Given the description of an element on the screen output the (x, y) to click on. 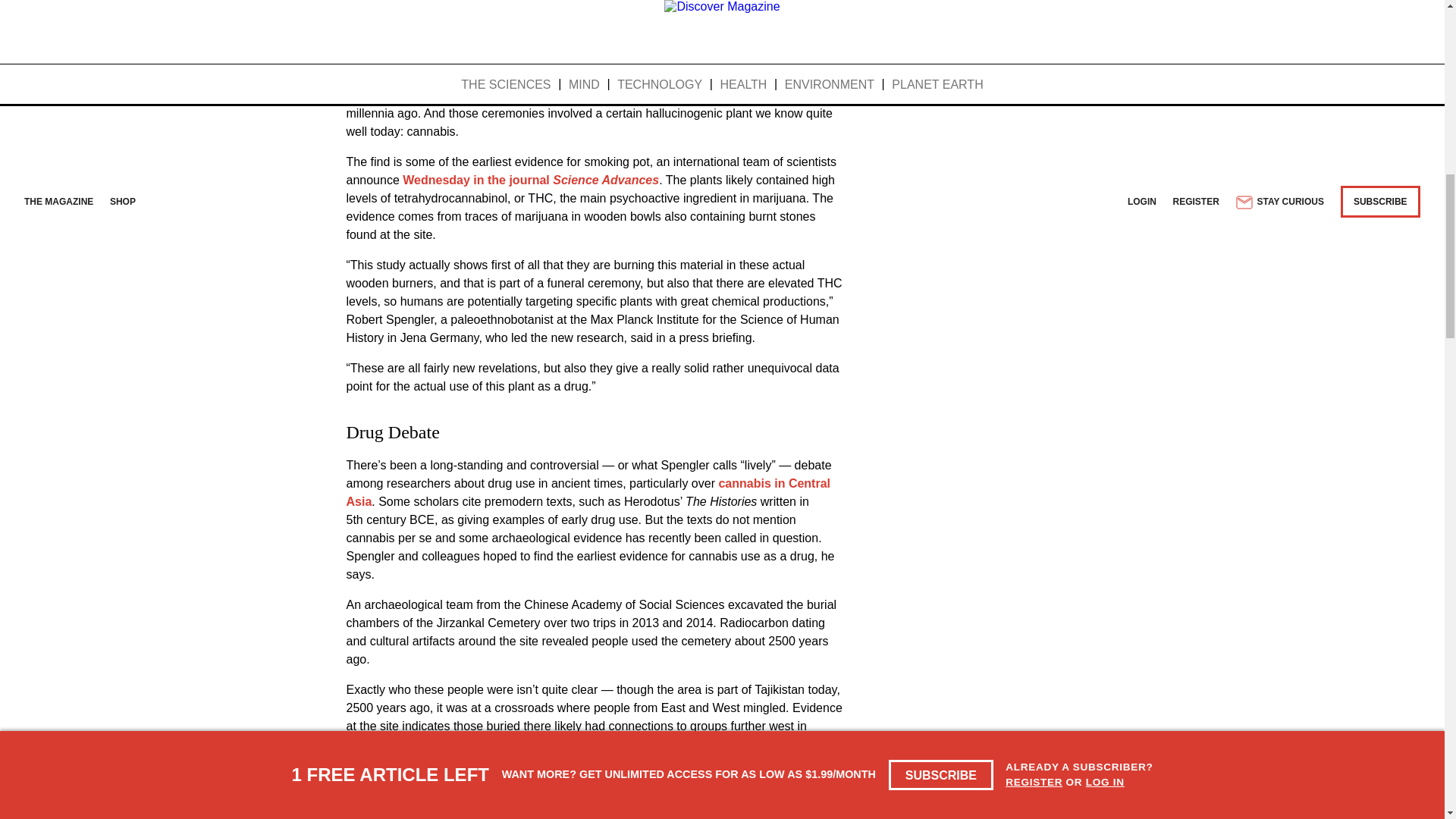
Science Advances (719, 133)
cannabis in Central Asia (540, 373)
Wednesday in the journal  (971, 124)
SIGN UP (1063, 3)
